Given the description of an element on the screen output the (x, y) to click on. 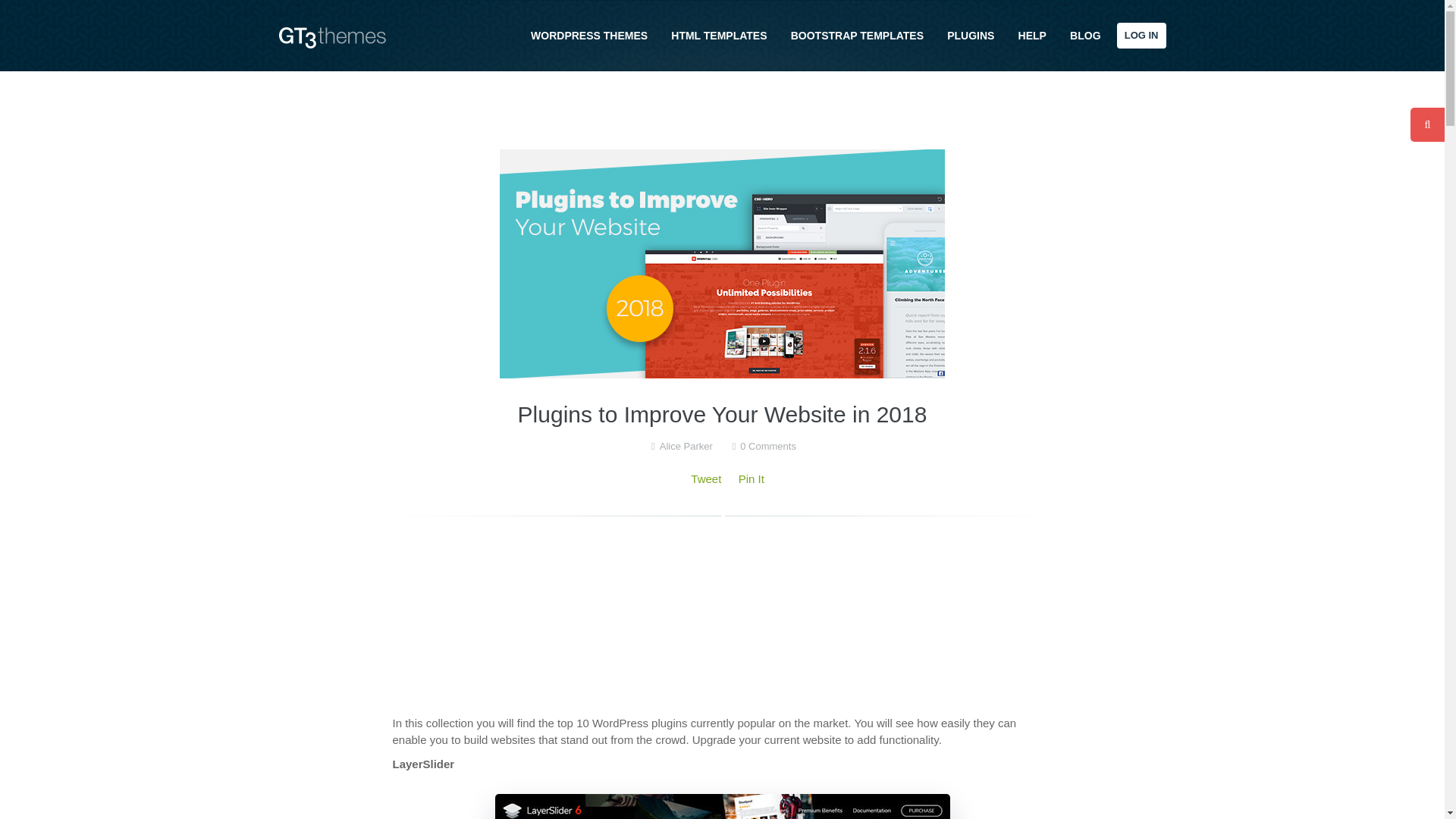
Tweet (705, 478)
PLUGINS (970, 35)
HELP (1032, 35)
WORDPRESS THEMES (588, 35)
LOG IN (1141, 35)
HTML TEMPLATES (718, 35)
Posts by Alice Parker (686, 446)
Advertisement (722, 616)
BOOTSTRAP TEMPLATES (857, 35)
0 Comments (767, 446)
